Given the description of an element on the screen output the (x, y) to click on. 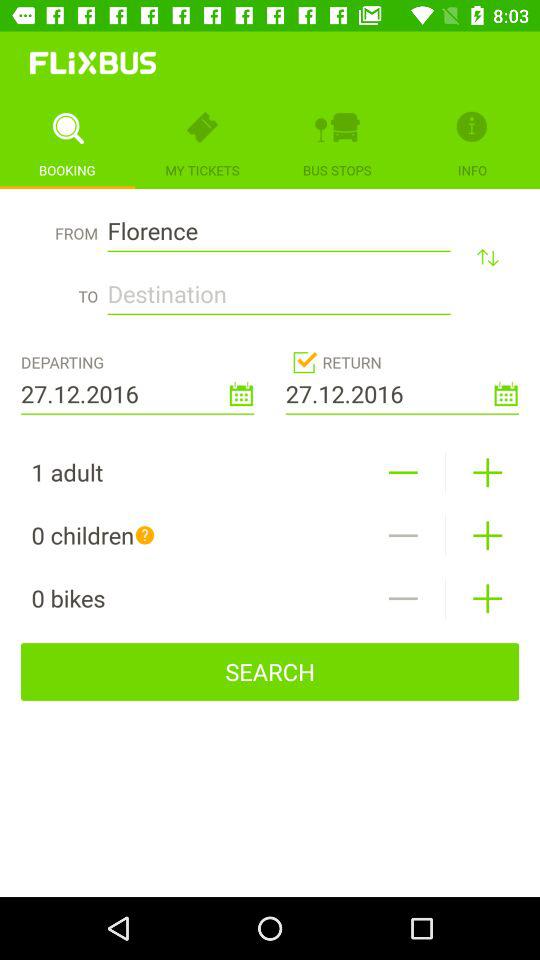
add one child (487, 535)
